Given the description of an element on the screen output the (x, y) to click on. 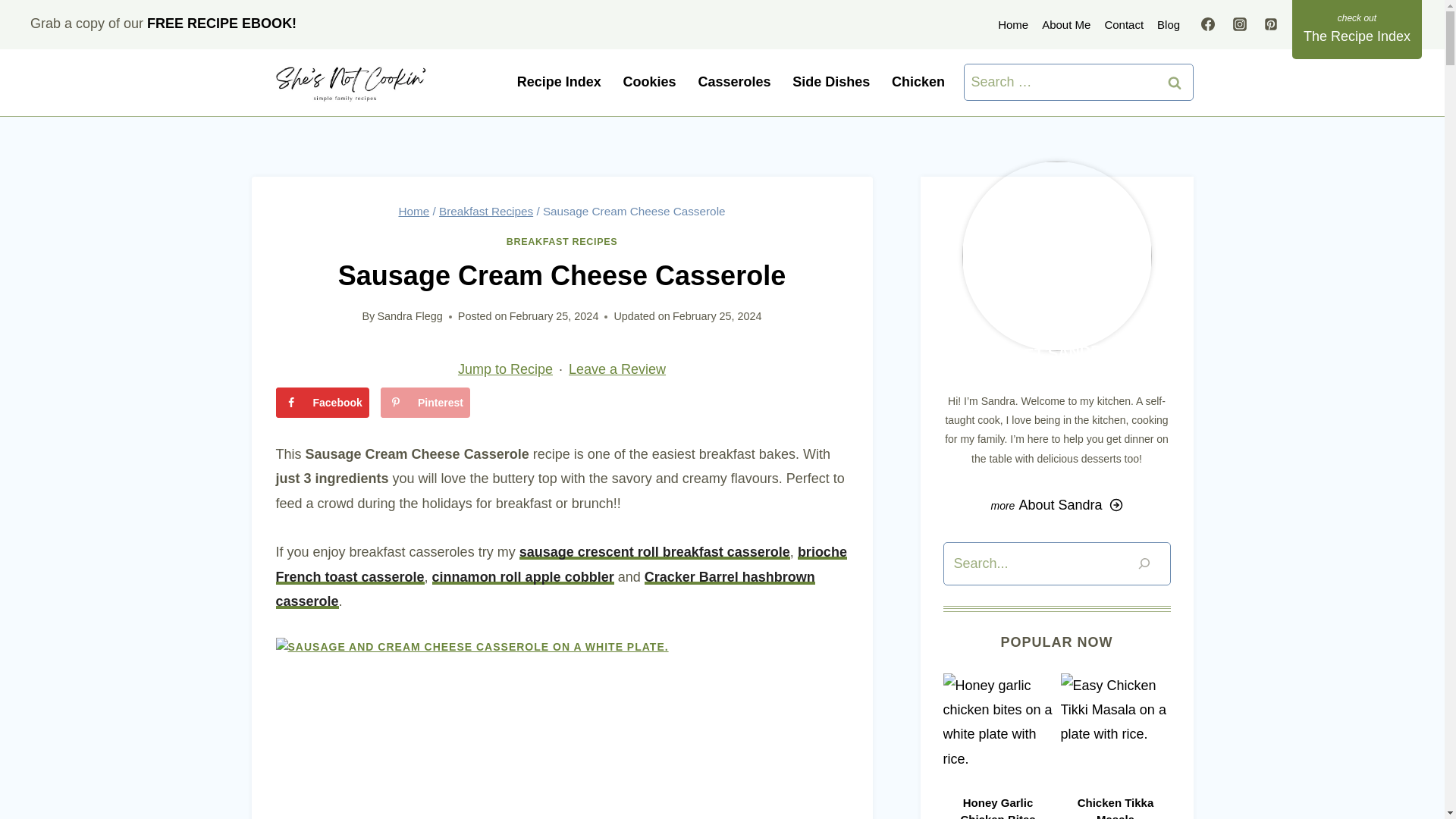
Cracker Barrel hashbrown casserole (545, 589)
Home (413, 210)
Search (1174, 81)
Save to Pinterest (425, 402)
Jump to Recipe (505, 369)
Leave a Review (616, 369)
Sandra Flegg (409, 316)
Casseroles (734, 82)
brioche French toast casserole (561, 563)
Facebook (322, 402)
BREAKFAST RECIPES (561, 241)
Pinterest (425, 402)
Home (1013, 24)
Leave a Review (616, 369)
Side Dishes (830, 82)
